Given the description of an element on the screen output the (x, y) to click on. 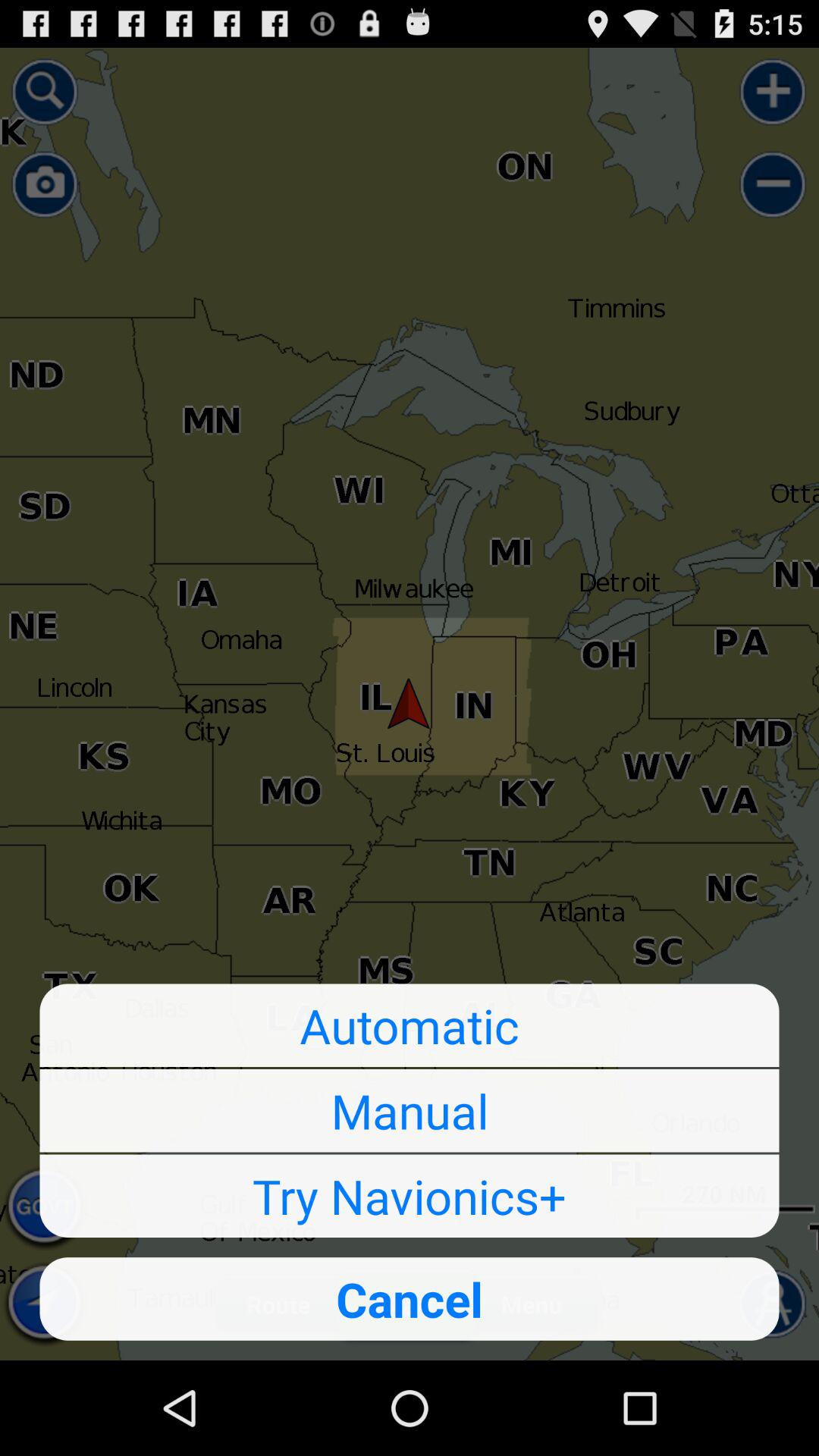
choose automatic icon (409, 1024)
